Given the description of an element on the screen output the (x, y) to click on. 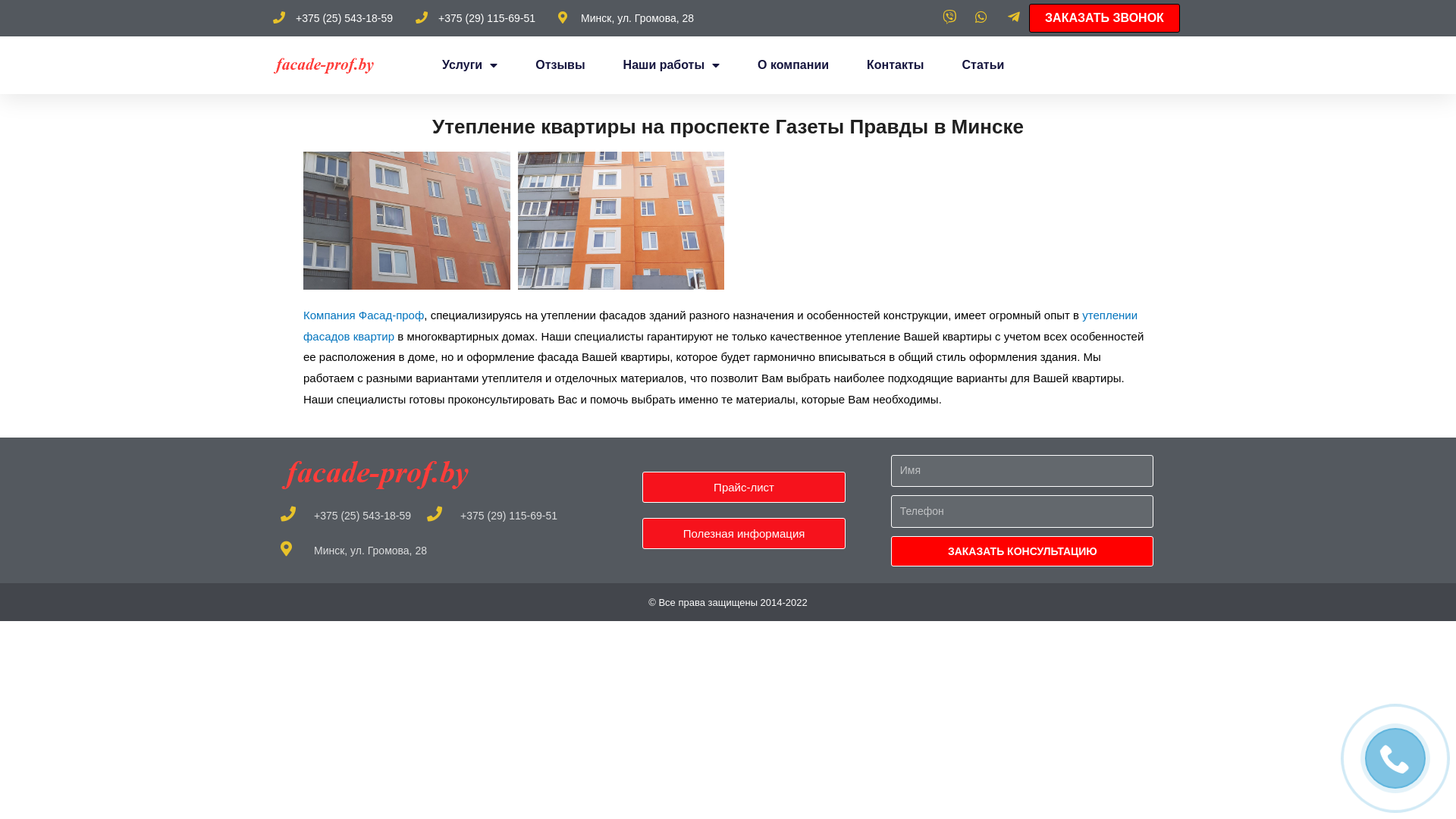
+375 (29) 115-69-51 Element type: text (491, 515)
+375 (25) 543-18-59 Element type: text (332, 18)
+375 (29) 115-69-51 Element type: text (475, 18)
+375 (25) 543-18-59 Element type: text (345, 515)
